Given the description of an element on the screen output the (x, y) to click on. 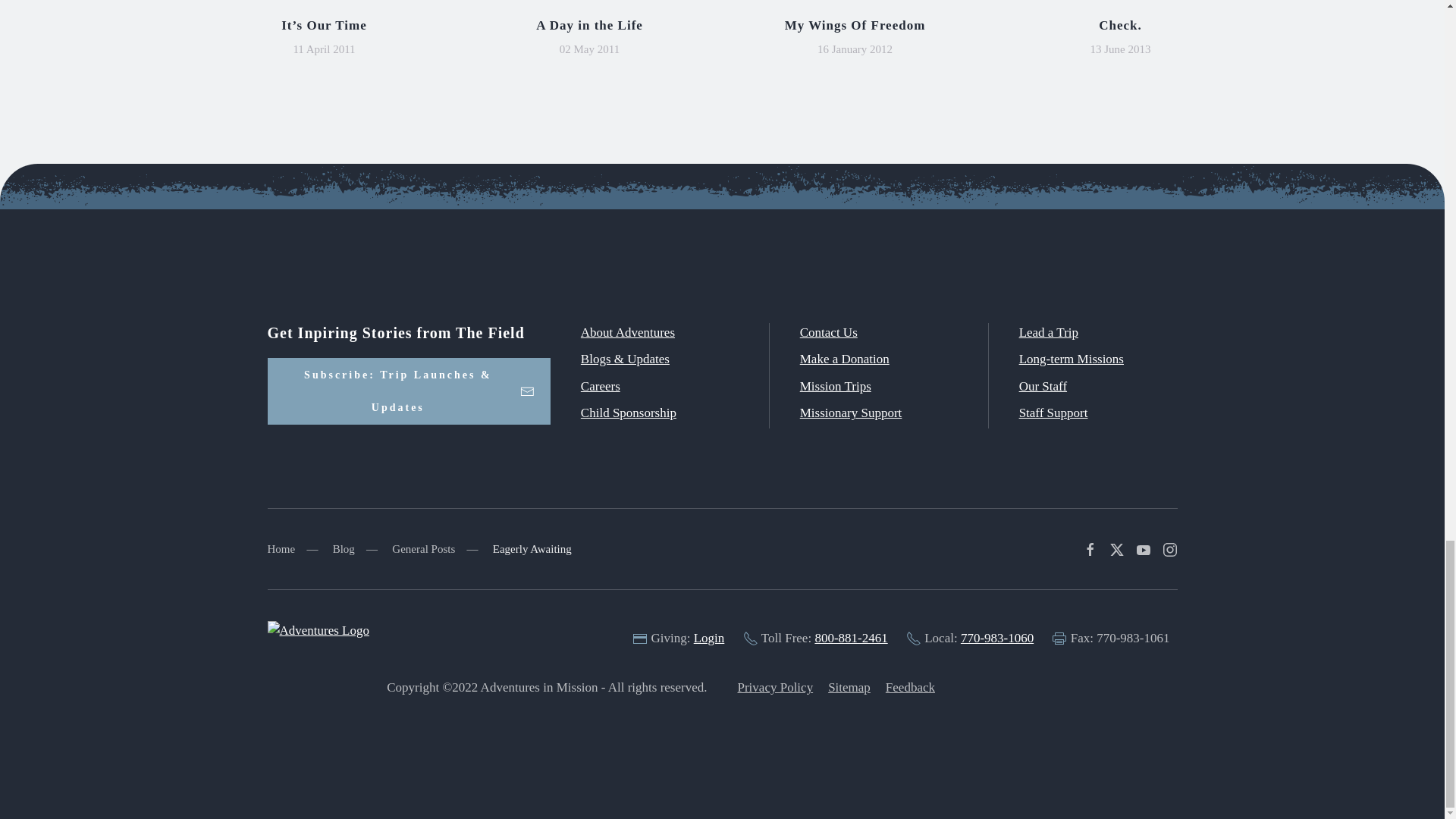
Careers (600, 386)
My Wings Of Freedom (855, 25)
About Adventures (627, 332)
A Day in the Life (589, 25)
Check. (1120, 25)
